Given the description of an element on the screen output the (x, y) to click on. 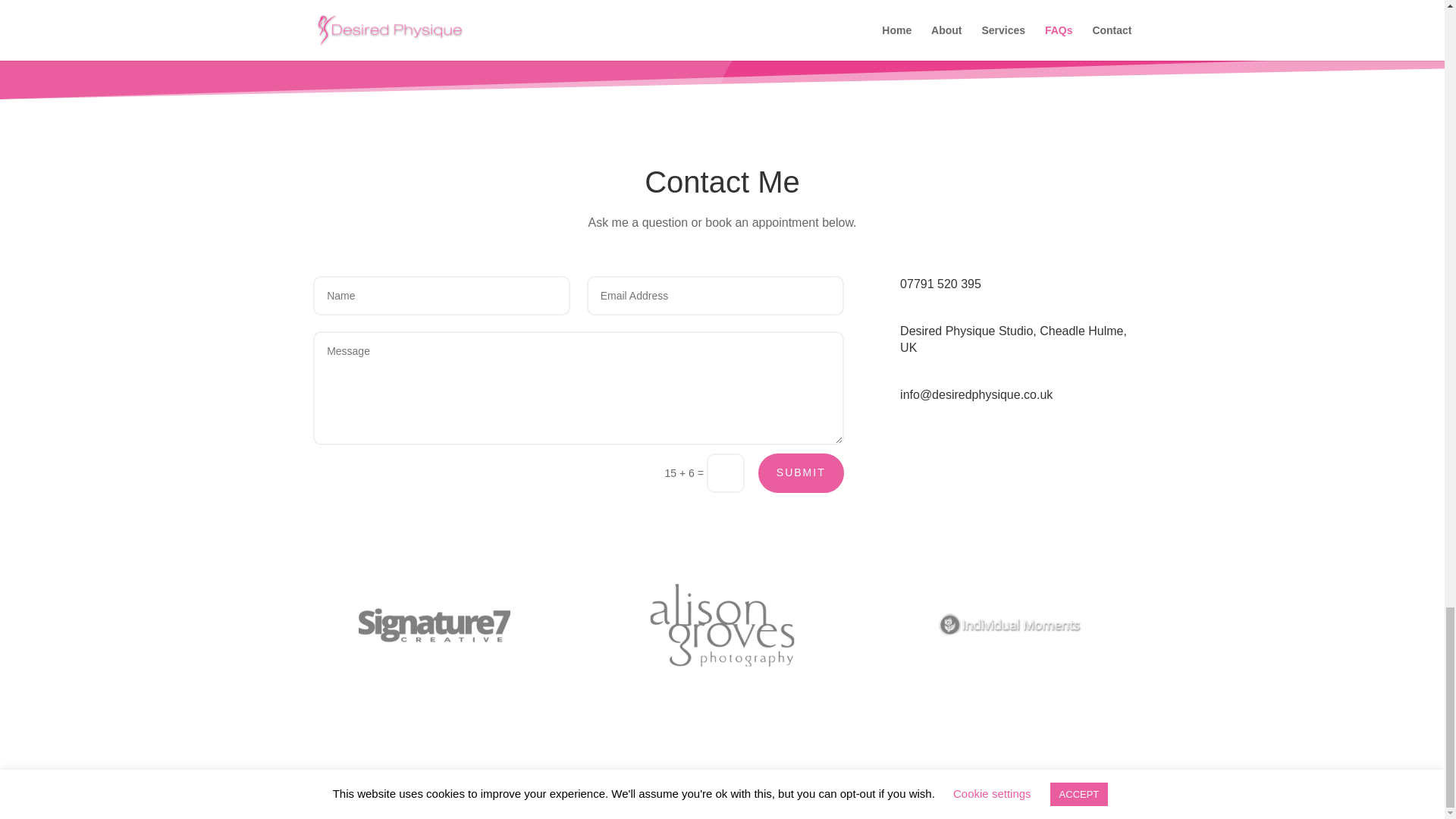
SUBMIT (801, 473)
Signature 7 Creative (548, 797)
